Given the description of an element on the screen output the (x, y) to click on. 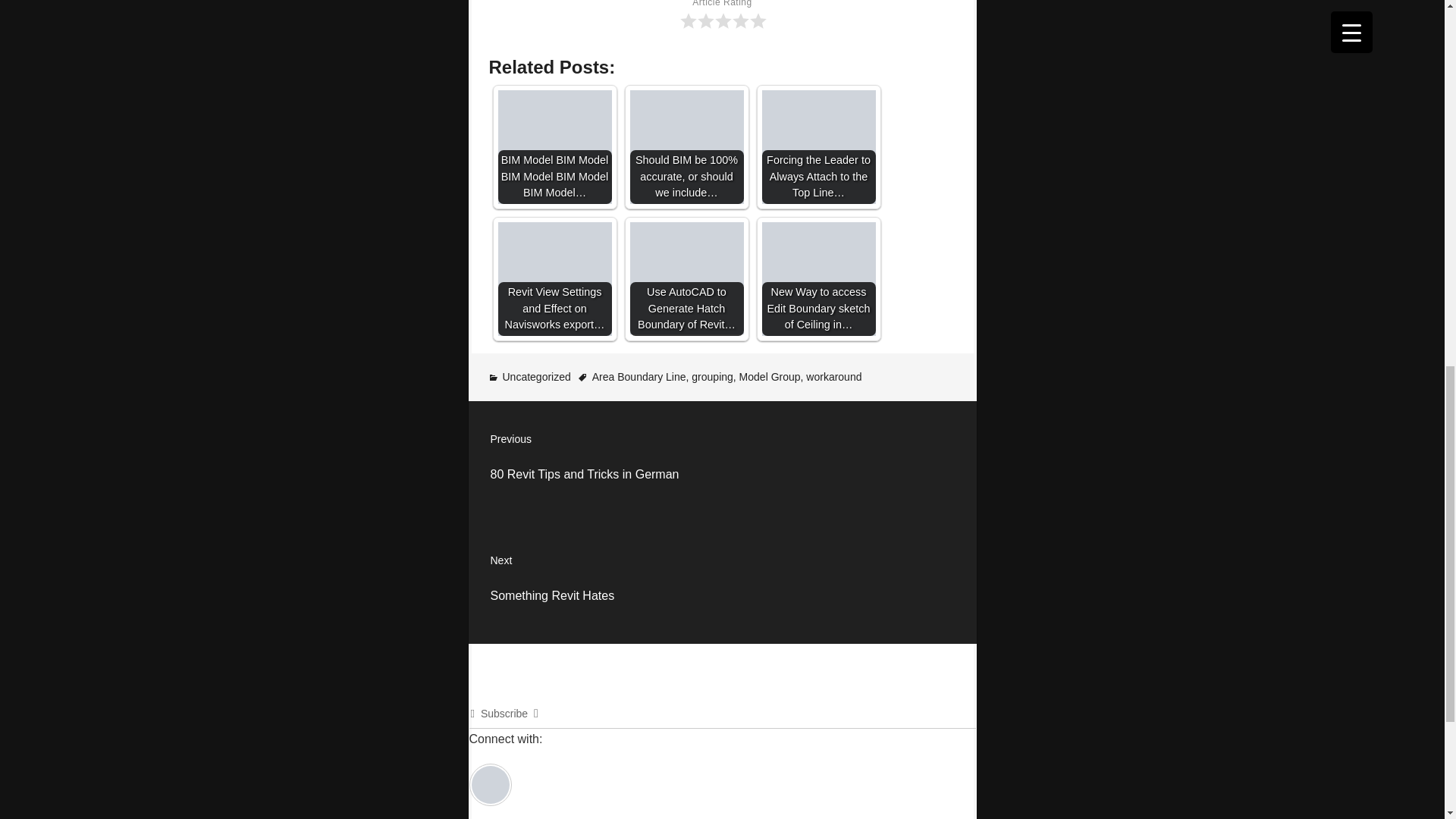
Uncategorized (536, 377)
Model Group (722, 461)
Area Boundary Line (769, 377)
grouping (638, 377)
workaround (712, 377)
